Given the description of an element on the screen output the (x, y) to click on. 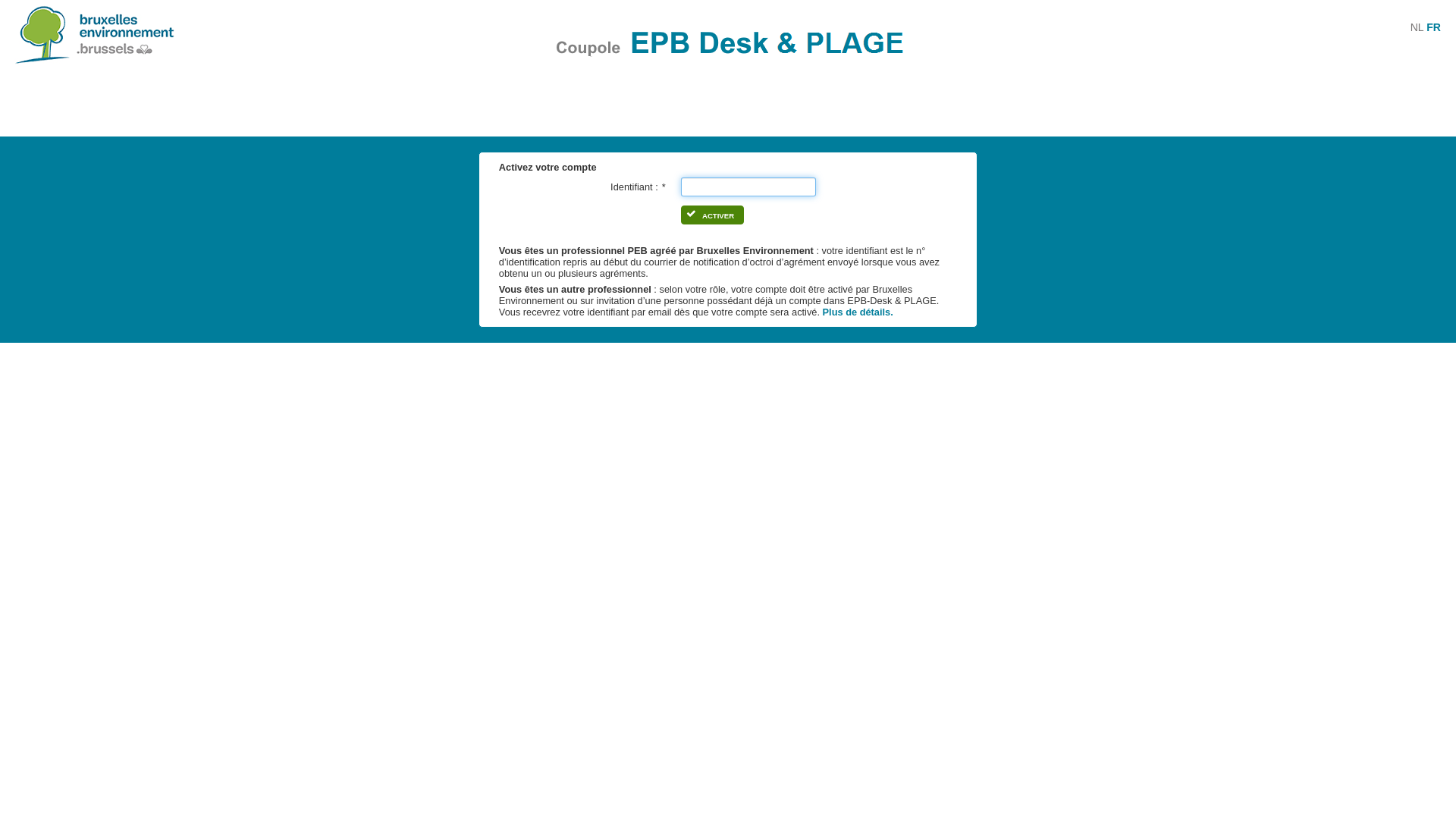
NL Element type: text (1417, 27)
ACTIVER Element type: text (711, 214)
